Given the description of an element on the screen output the (x, y) to click on. 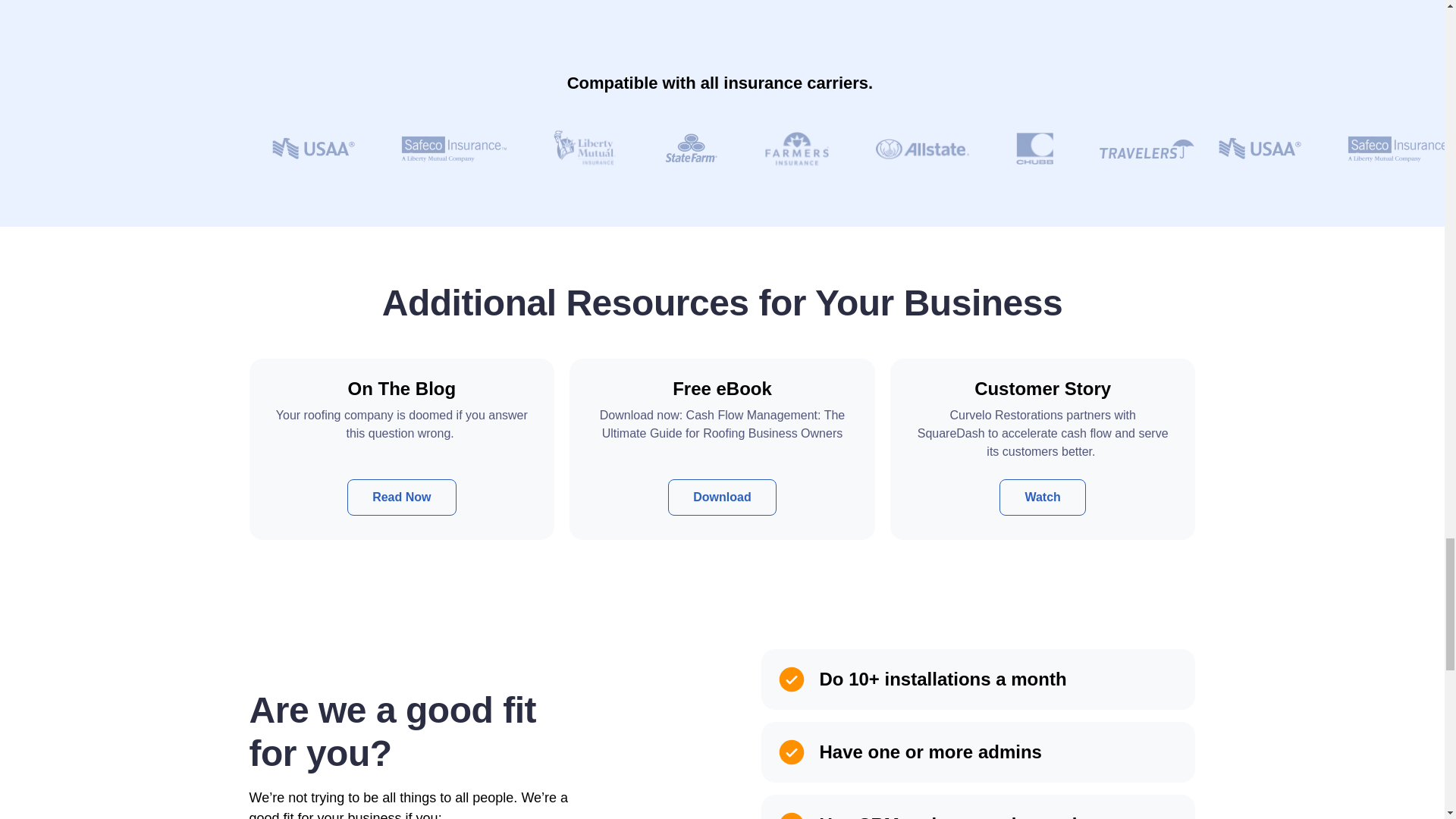
Read Now (401, 497)
Download (722, 497)
Watch (1041, 497)
